Given the description of an element on the screen output the (x, y) to click on. 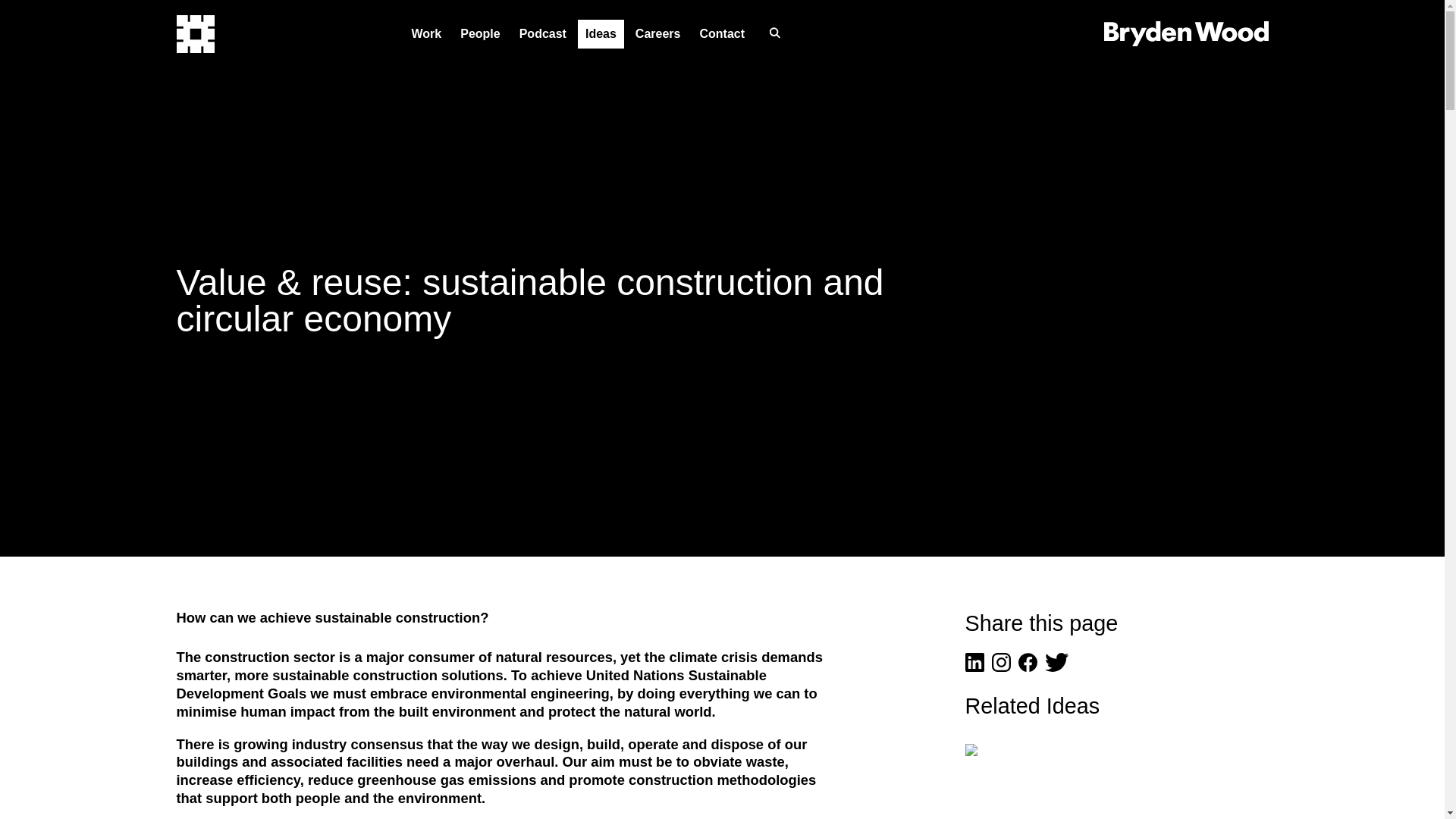
Share on Linkedin (973, 666)
Ideas (601, 33)
Podcast (542, 33)
Share on Twitter (1056, 666)
Careers (657, 33)
People (479, 33)
Work (425, 33)
Share on Instagram (1000, 666)
Contact (721, 33)
Share on Facebook (1026, 666)
